Given the description of an element on the screen output the (x, y) to click on. 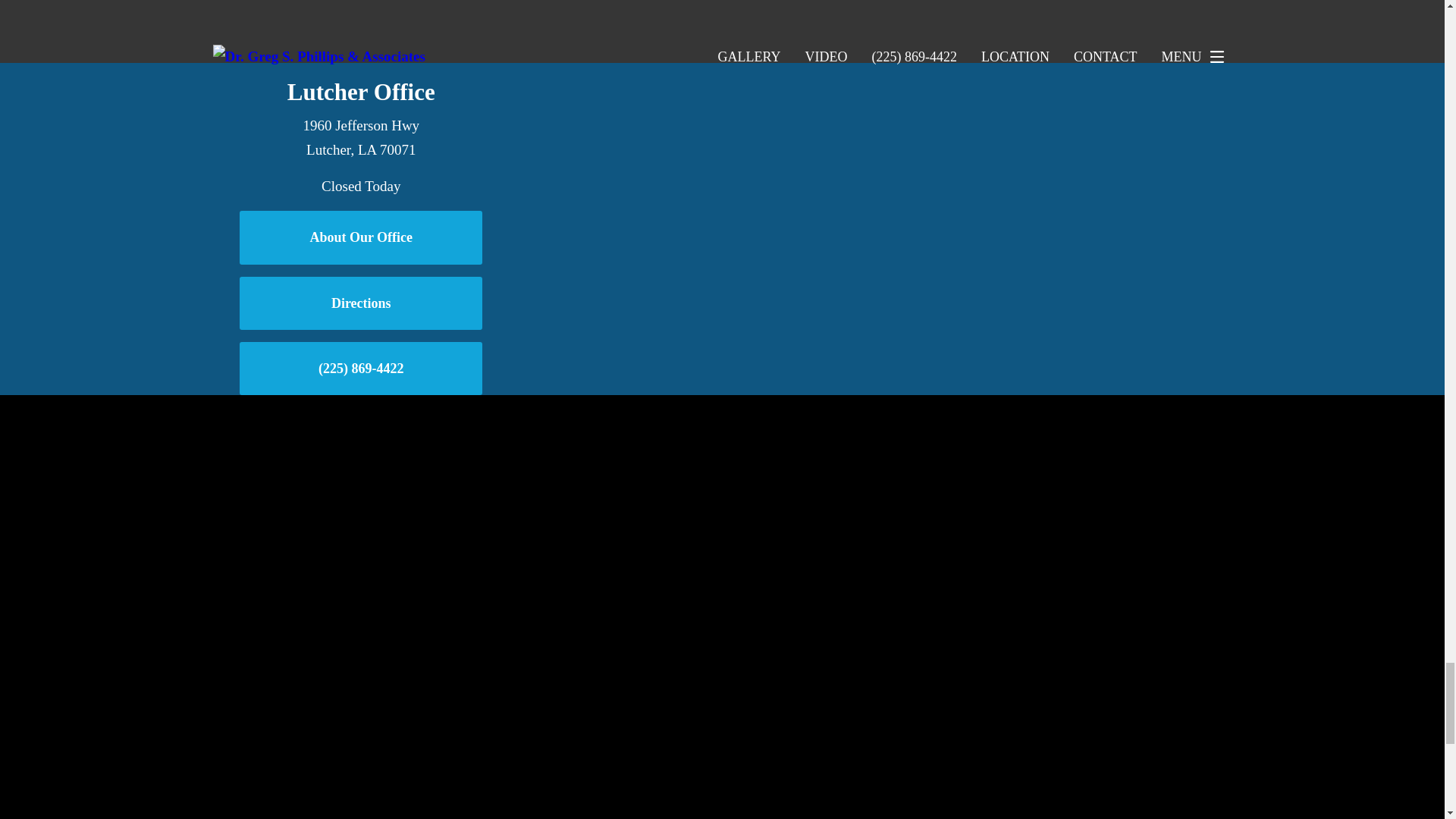
Locations (1004, 74)
